Given the description of an element on the screen output the (x, y) to click on. 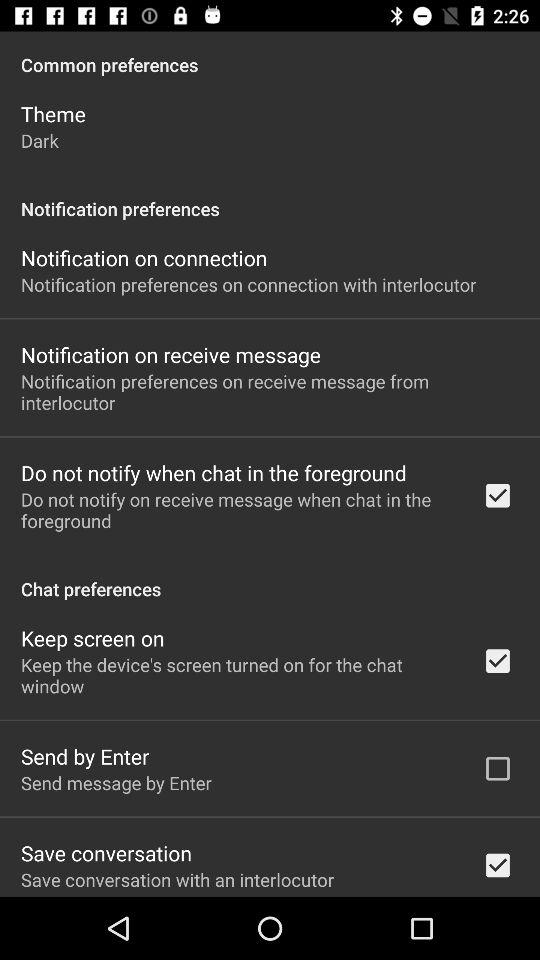
choose the common preferences app (270, 54)
